Given the description of an element on the screen output the (x, y) to click on. 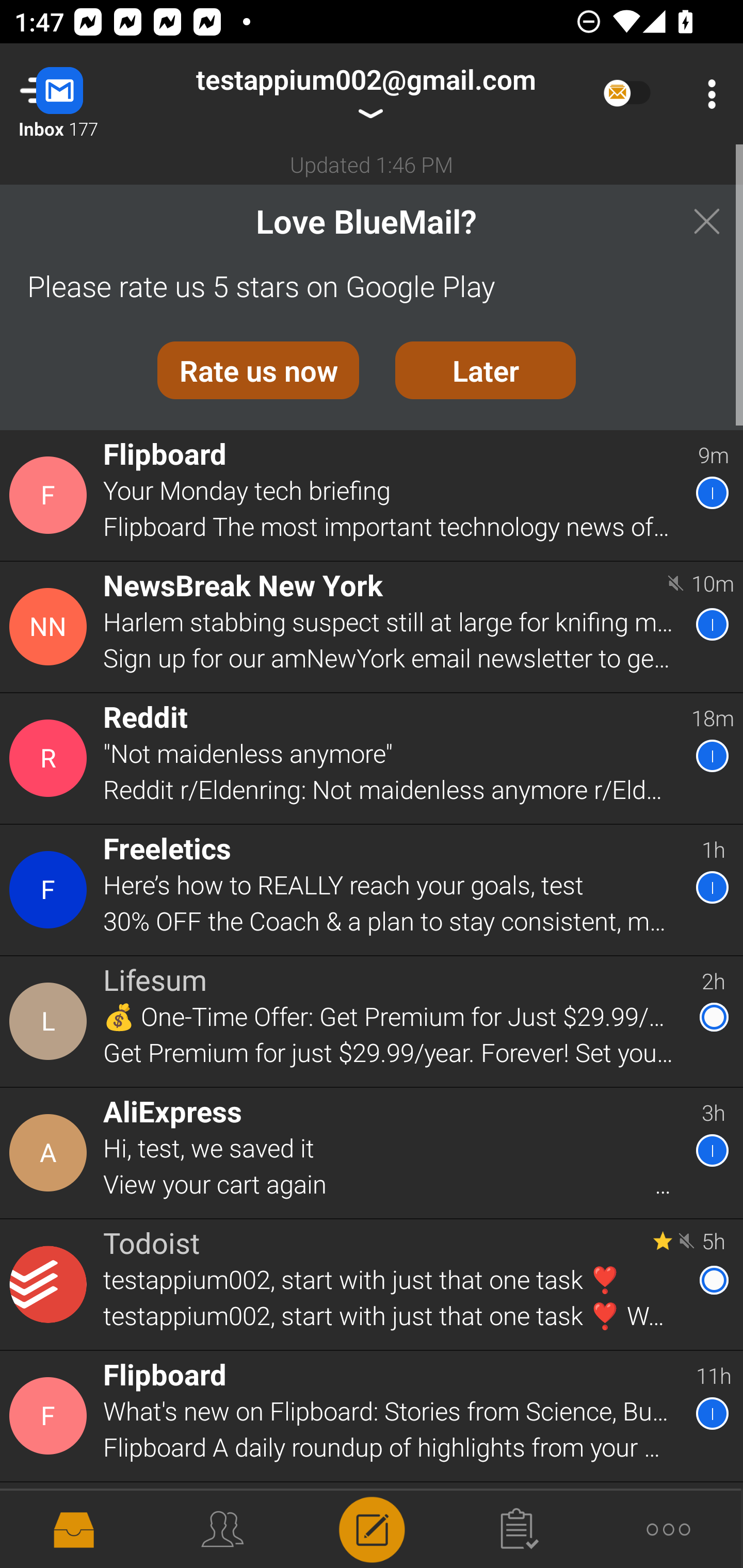
Navigate up (81, 93)
testappium002@gmail.com (365, 93)
More Options (706, 93)
Updated 1:46 PM (371, 164)
Rate us now (257, 370)
Later (485, 370)
Contact Details (50, 495)
Contact Details (50, 626)
Contact Details (50, 758)
Contact Details (50, 889)
Contact Details (50, 1021)
Contact Details (50, 1153)
Contact Details (50, 1284)
Contact Details (50, 1416)
Compose (371, 1528)
